Given the description of an element on the screen output the (x, y) to click on. 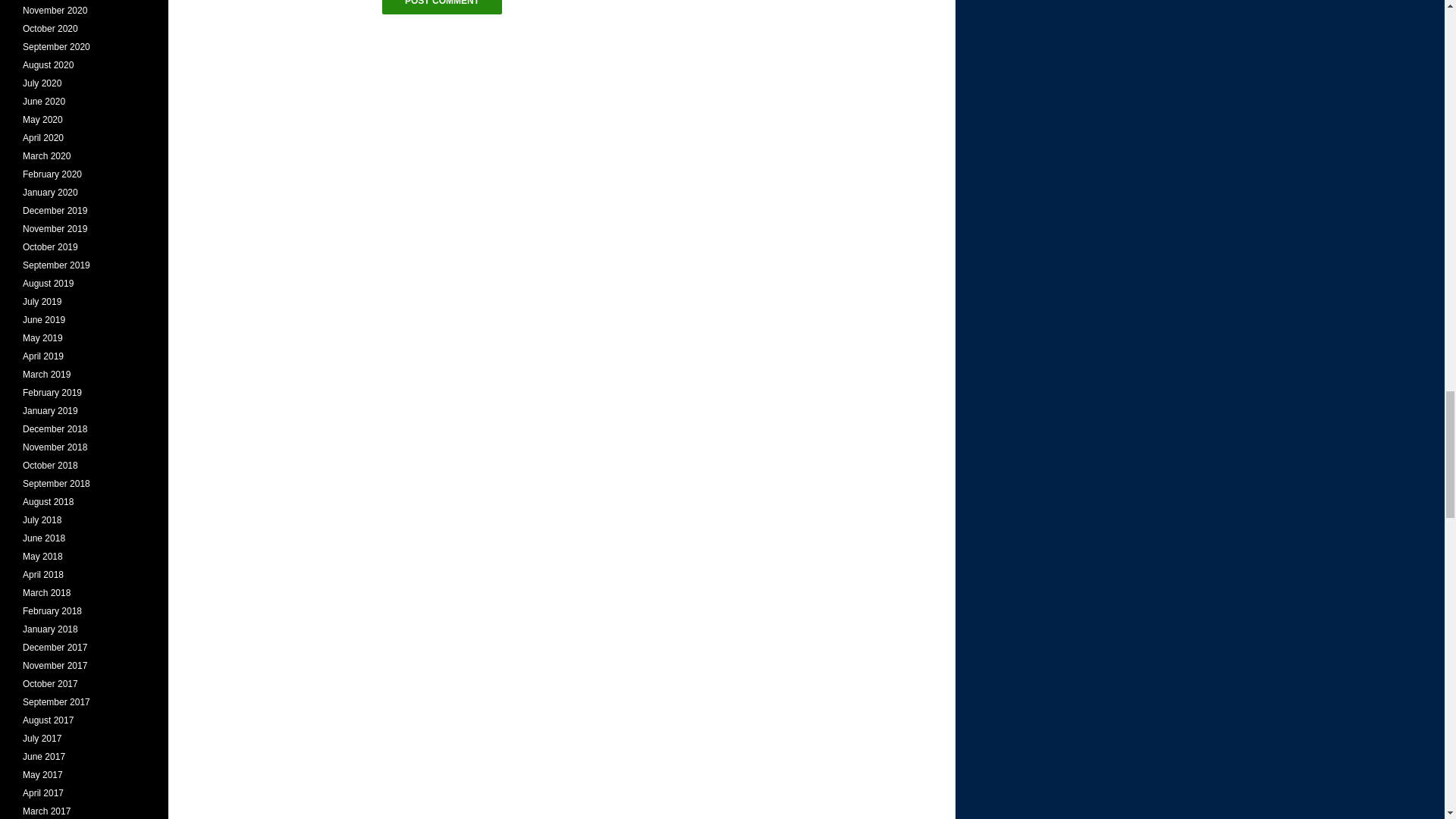
Post Comment (441, 7)
Post Comment (441, 7)
